Given the description of an element on the screen output the (x, y) to click on. 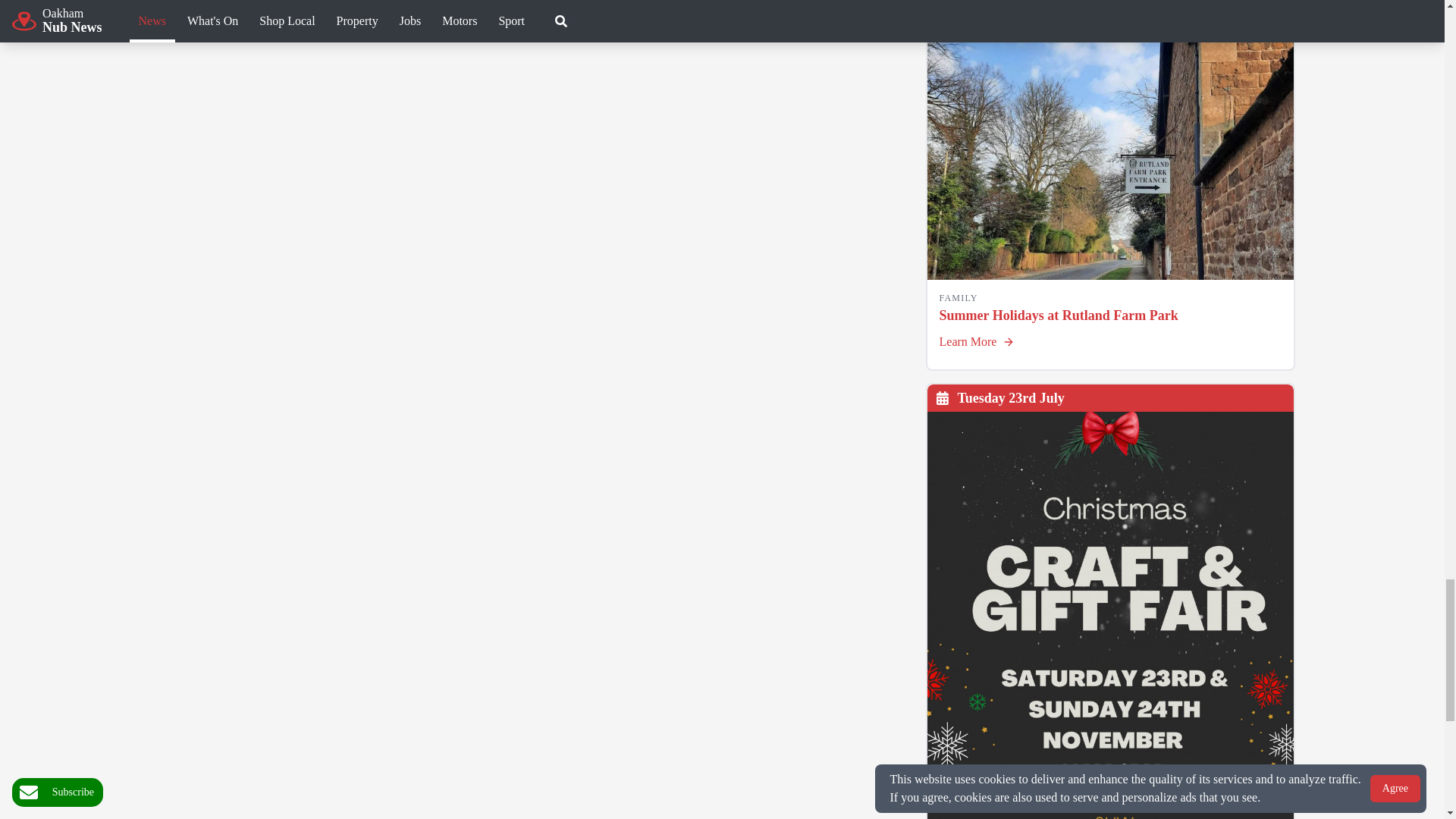
RFP, Uppingham Road, Oakham (1110, 151)
